Given the description of an element on the screen output the (x, y) to click on. 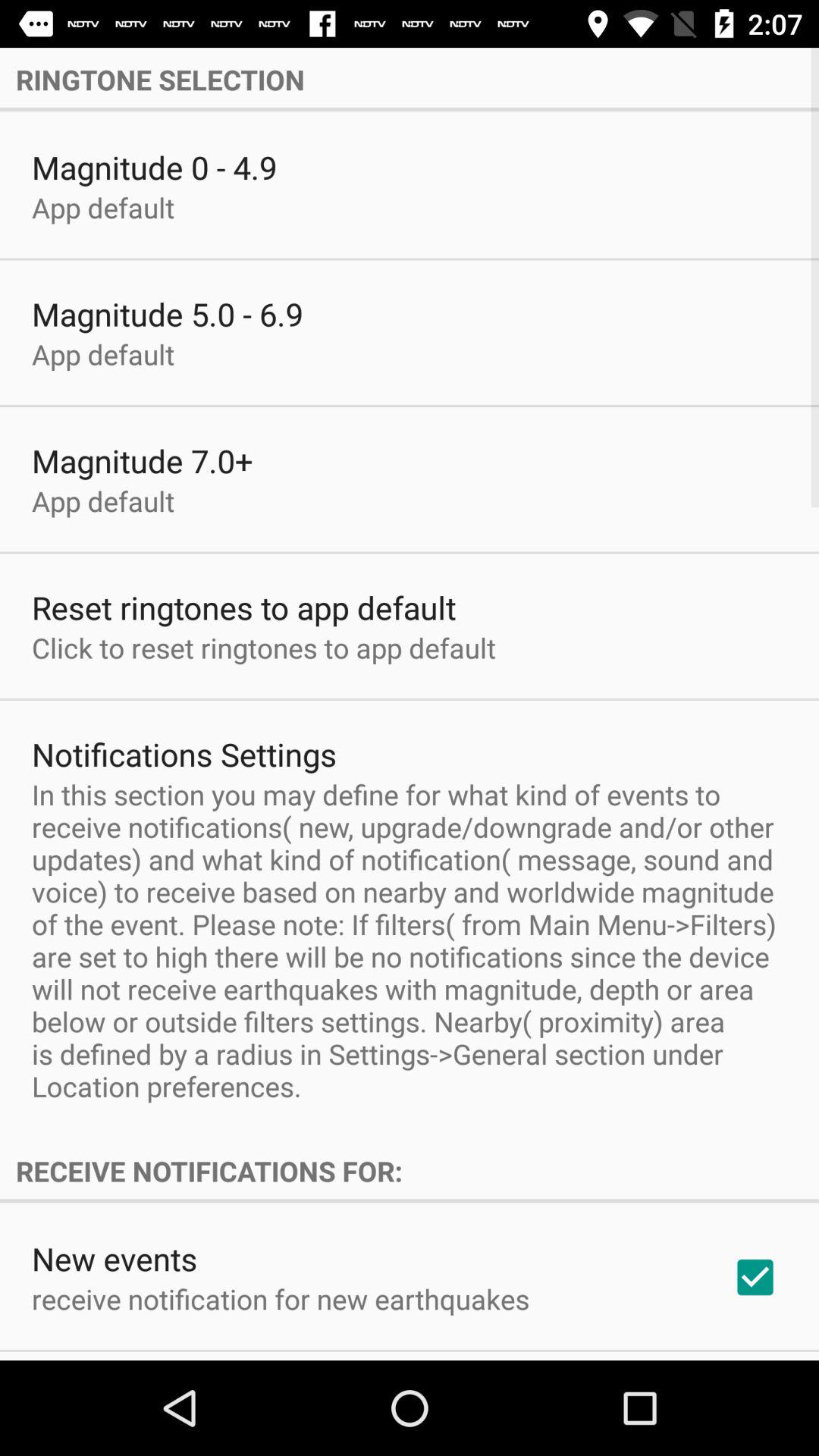
flip until notifications settings item (183, 753)
